Given the description of an element on the screen output the (x, y) to click on. 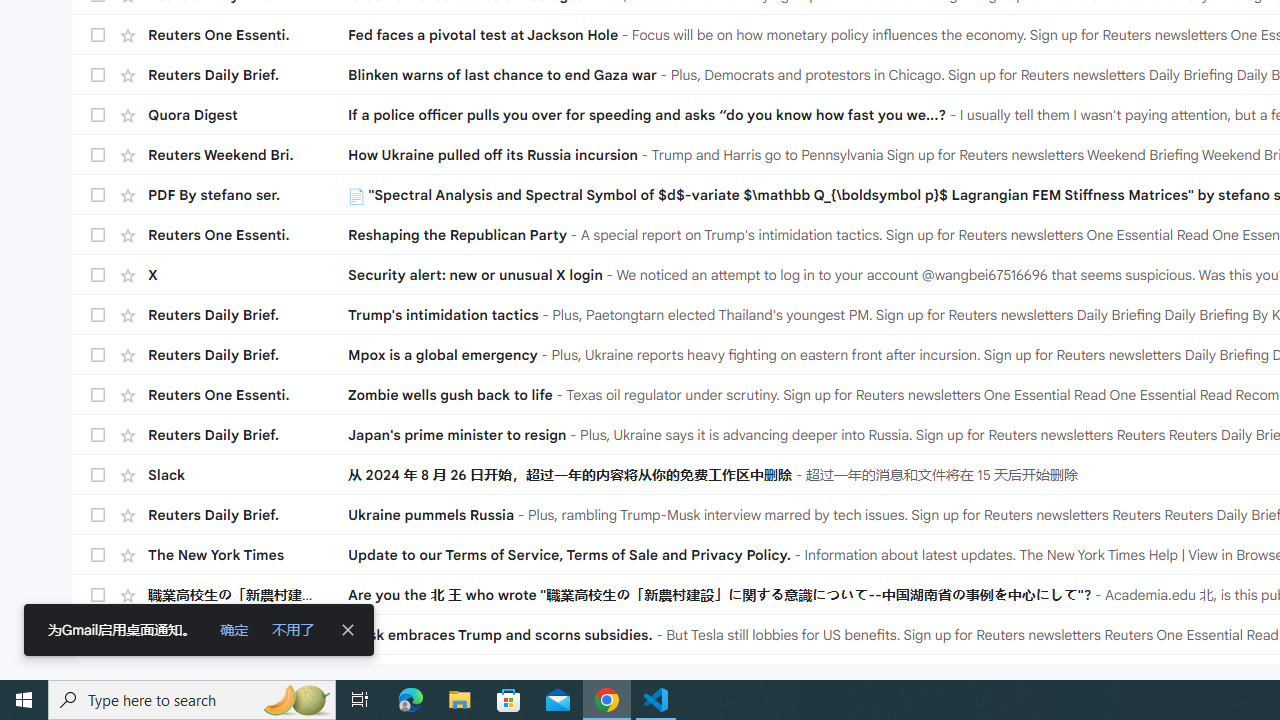
Slack (248, 475)
Quora Digest (248, 115)
X (248, 274)
PDF By stefano ser. (248, 195)
